Given the description of an element on the screen output the (x, y) to click on. 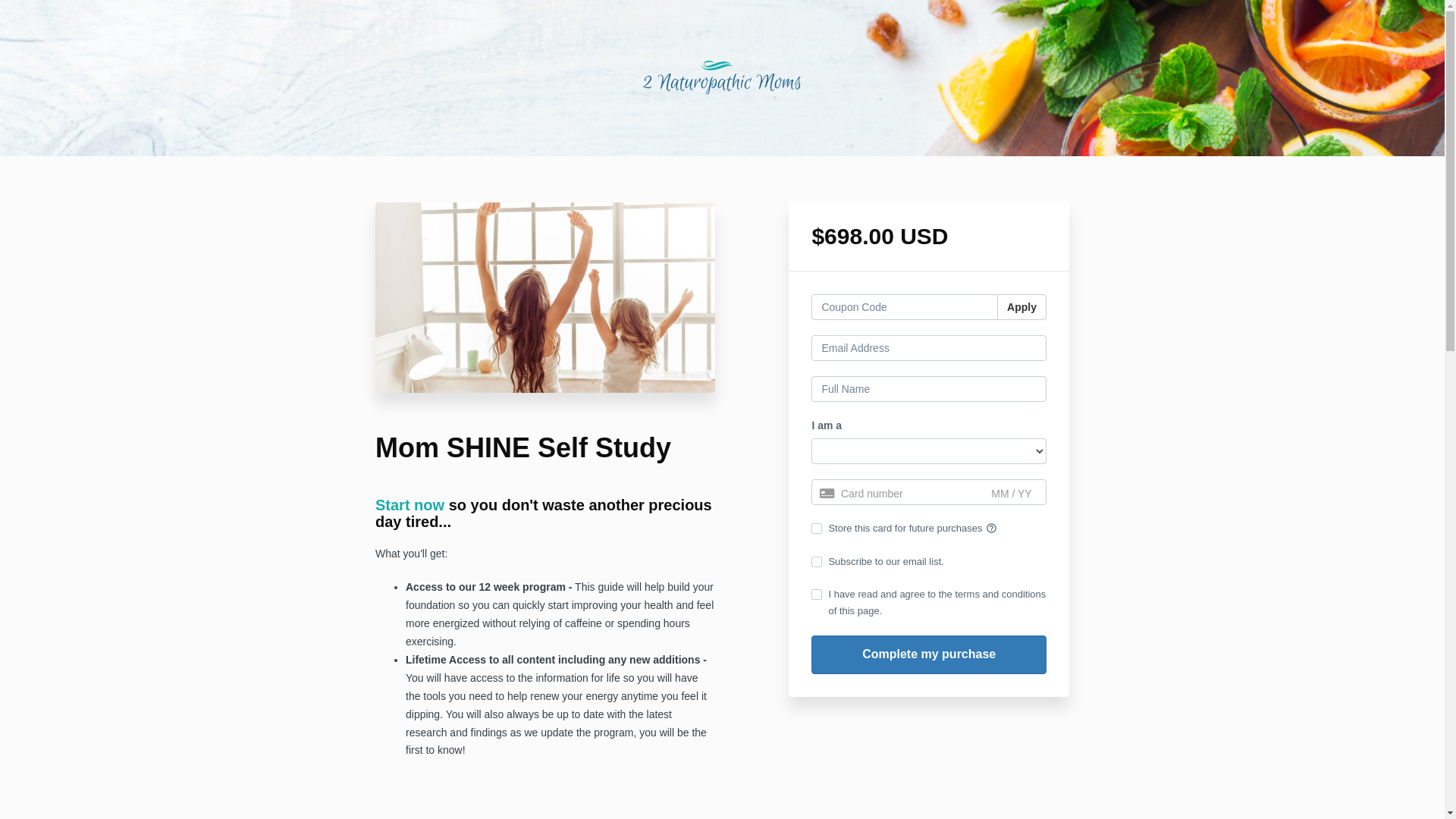
Complete my purchase Element type: text (928, 654)
Secure card payment input frame Element type: hover (928, 493)
Apply Element type: text (1021, 307)
